Given the description of an element on the screen output the (x, y) to click on. 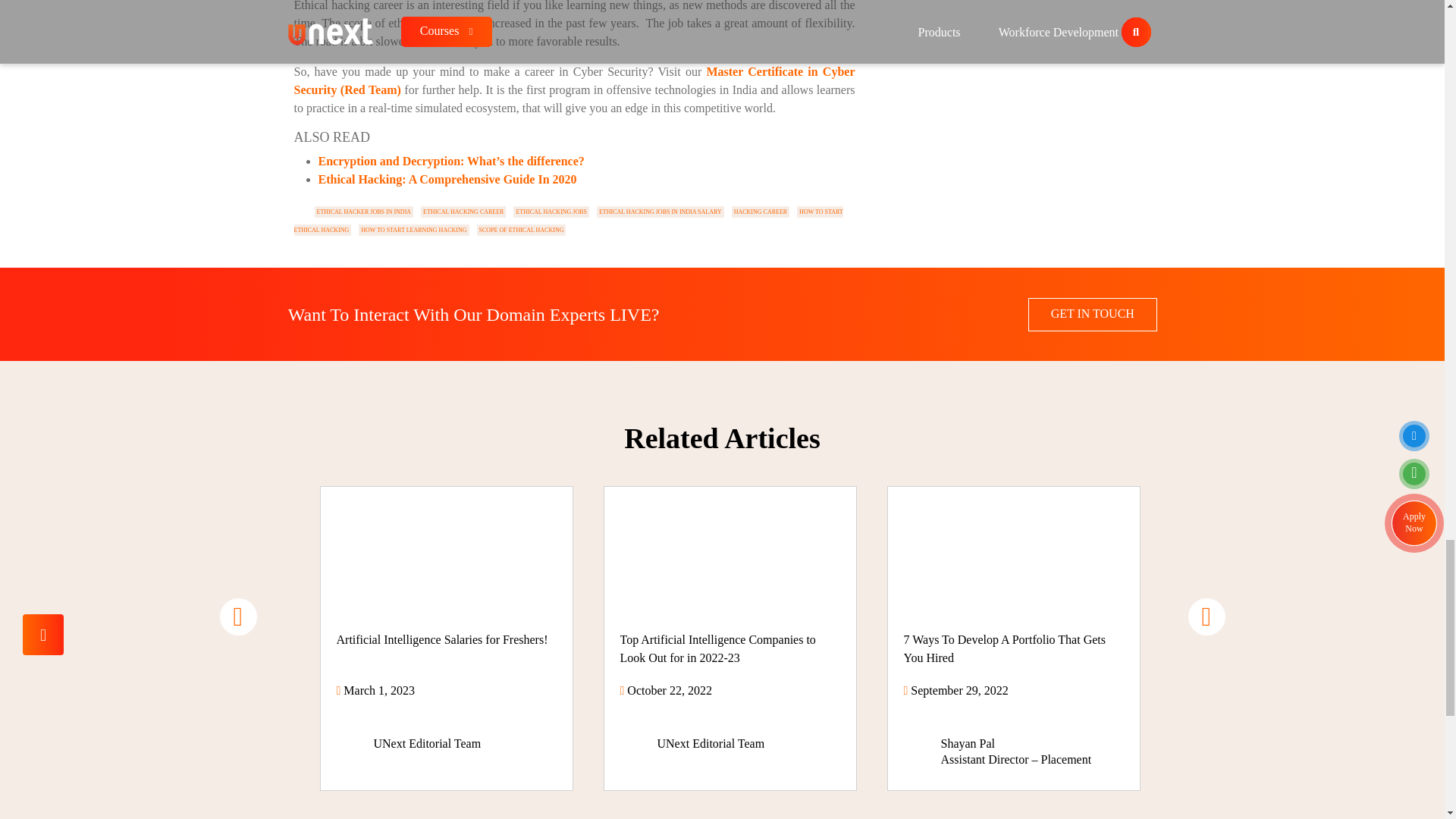
ETHICAL HACKING JOBS IN INDIA SALARY (659, 211)
SCOPE OF ETHICAL HACKING (521, 229)
ETHICAL HACKING CAREER (462, 211)
HOW TO START ETHICAL HACKING (568, 220)
HOW TO START LEARNING HACKING (413, 229)
ETHICAL HACKER JOBS IN INDIA (363, 211)
Ethical Hacking: A Comprehensive Guide In 2020 (447, 178)
HACKING CAREER (760, 211)
ETHICAL HACKING JOBS (550, 211)
